Given the description of an element on the screen output the (x, y) to click on. 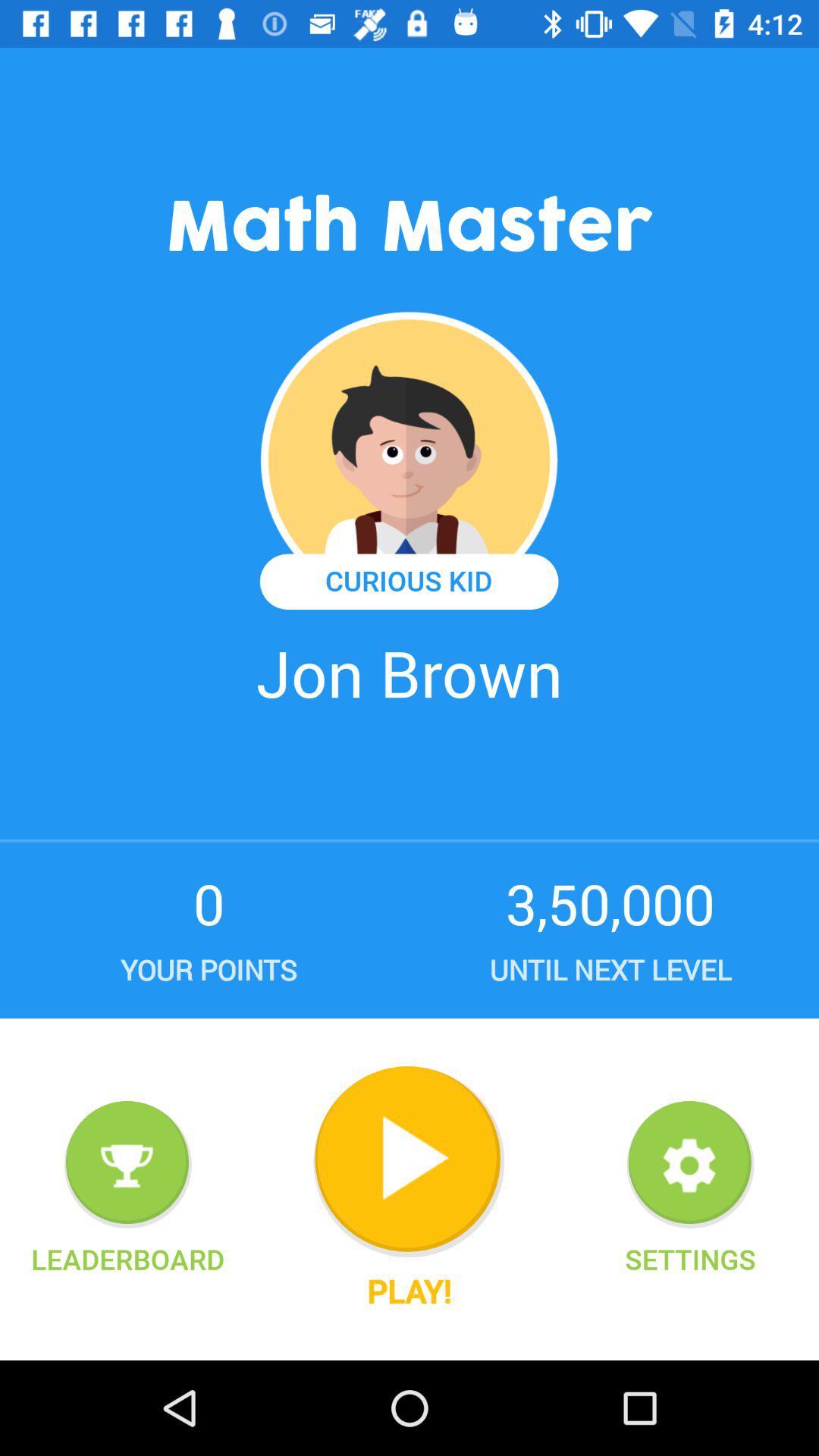
swipe to play! icon (408, 1290)
